Given the description of an element on the screen output the (x, y) to click on. 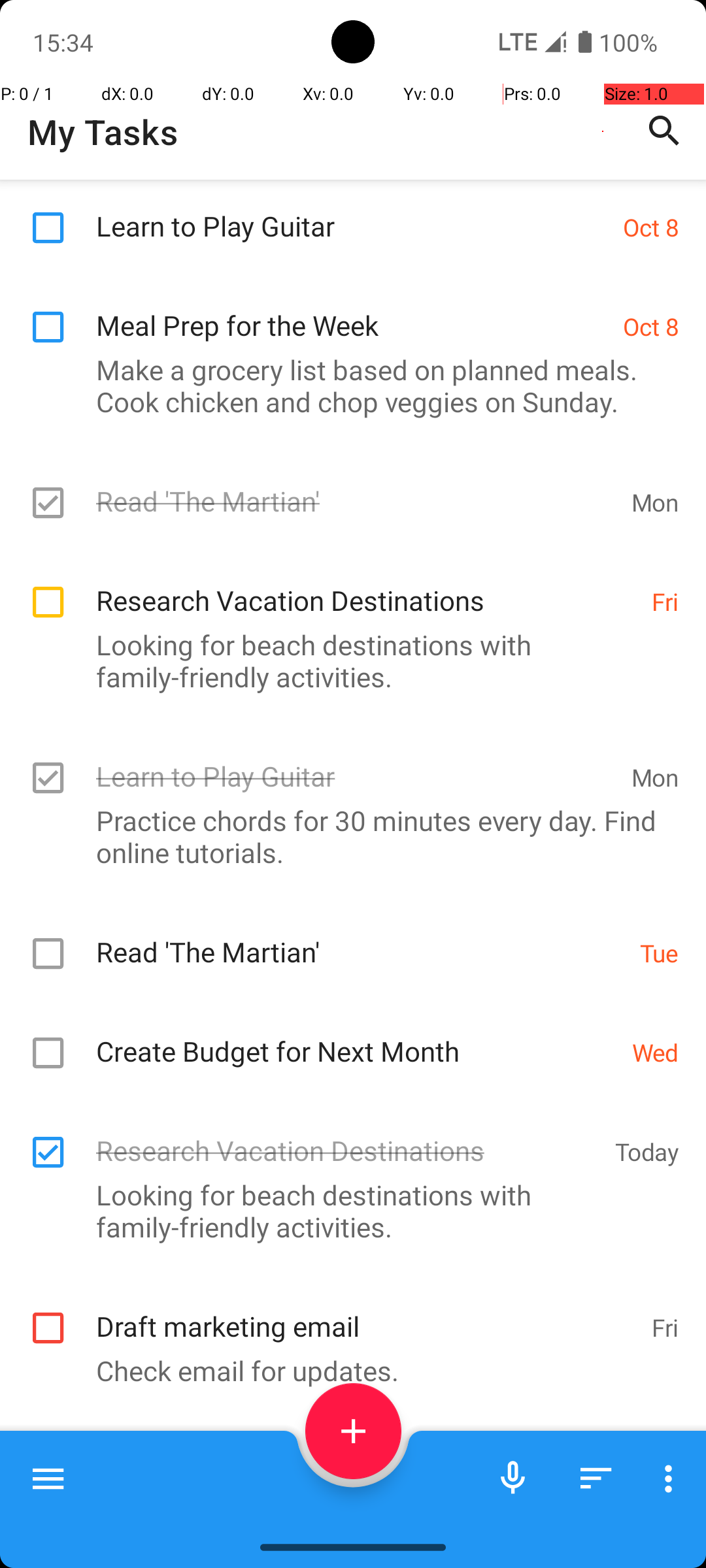
Make a grocery list based on planned meals. Cook chicken and chop veggies on Sunday. Element type: android.widget.TextView (346, 385)
Looking for beach destinations with family-friendly activities. Element type: android.widget.TextView (346, 660)
Draft marketing email Element type: android.widget.TextView (367, 1311)
Check email for updates. Element type: android.widget.TextView (346, 1369)
